Given the description of an element on the screen output the (x, y) to click on. 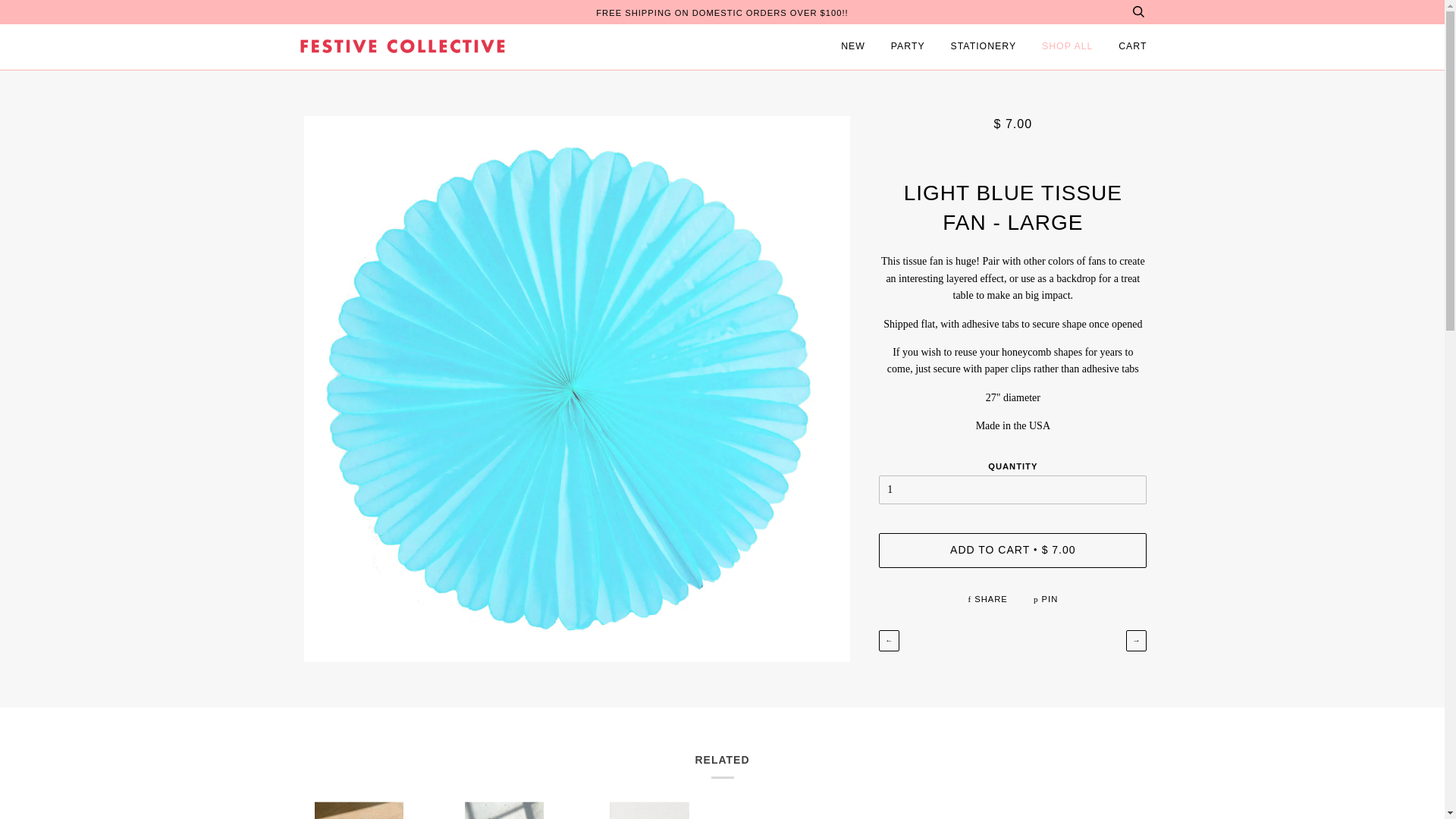
SHARE (989, 598)
SHOP ALL (1067, 46)
1 (1013, 489)
STATIONERY (983, 46)
PIN (1045, 598)
